Given the description of an element on the screen output the (x, y) to click on. 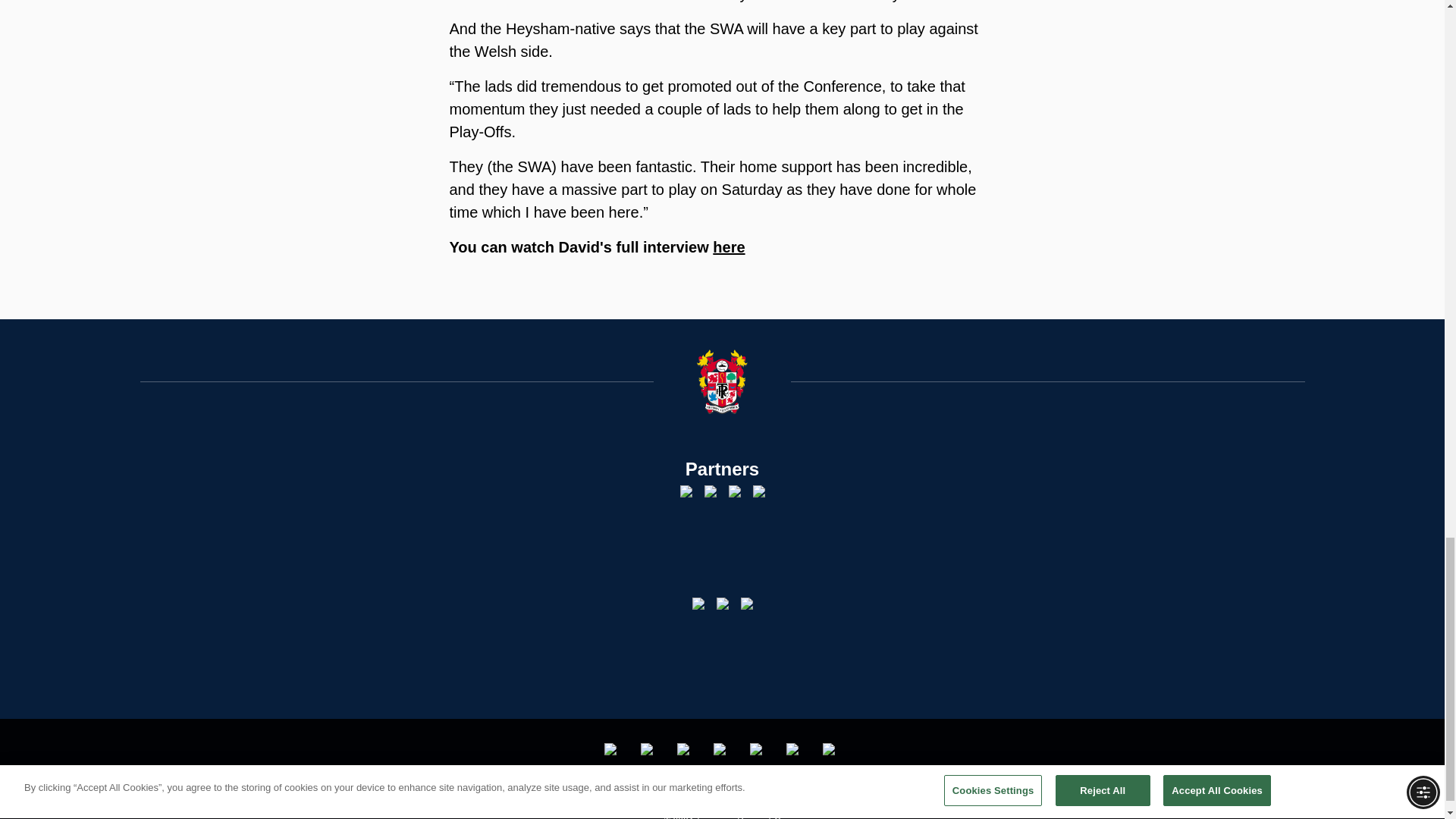
Privacy Policy (691, 797)
Privacy Policy (691, 797)
Tranmere Rovers FC (794, 748)
Tranmere Rovers FC (758, 748)
Accessibility (764, 797)
Terms of Use (619, 797)
trfcofficial (612, 748)
here (728, 247)
Contact Us (828, 797)
Accessibility (764, 797)
